Given the description of an element on the screen output the (x, y) to click on. 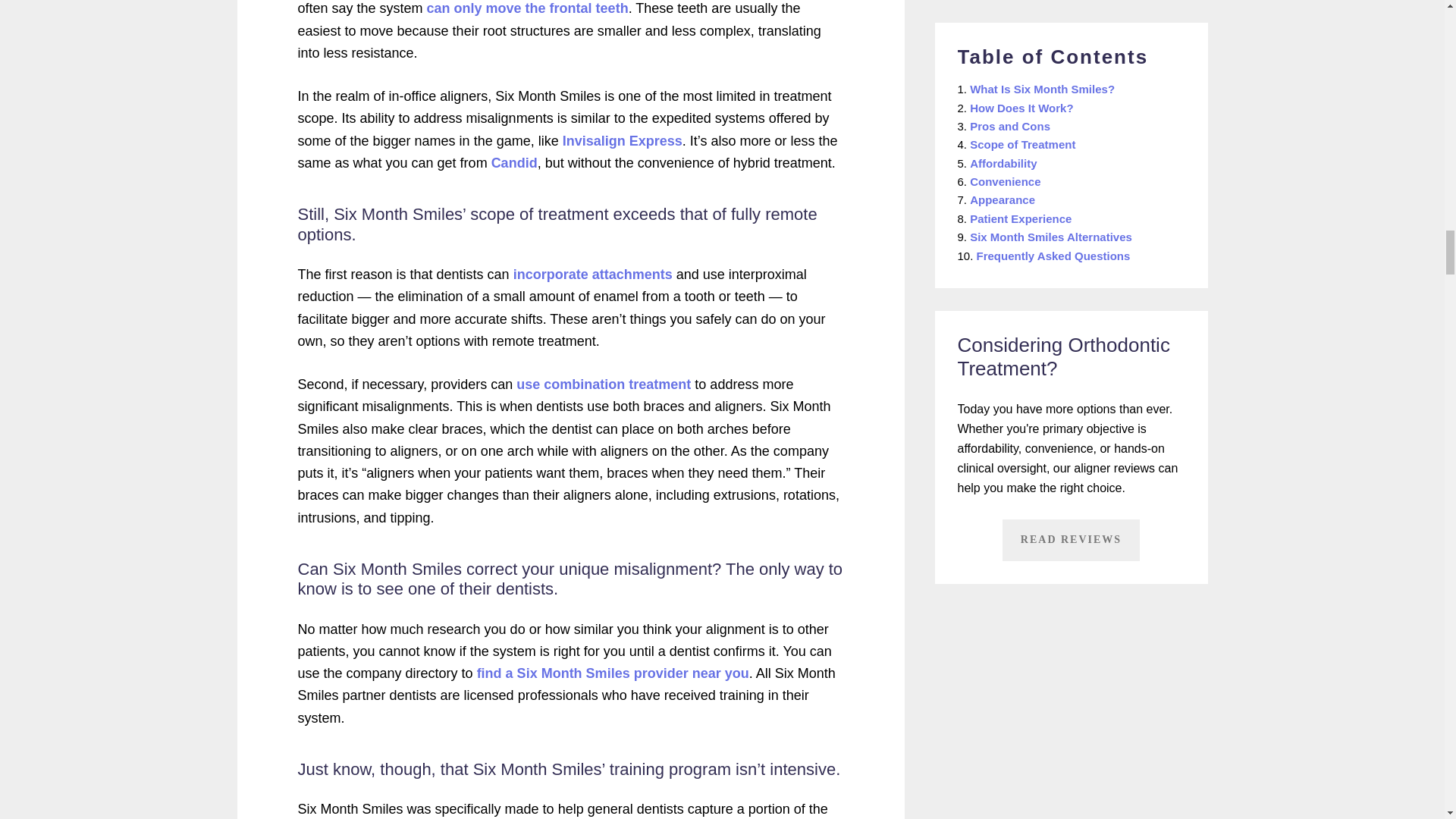
incorporate attachments (592, 273)
Invisalign Express (622, 140)
can only move the frontal teeth (527, 7)
Candid (514, 162)
